Given the description of an element on the screen output the (x, y) to click on. 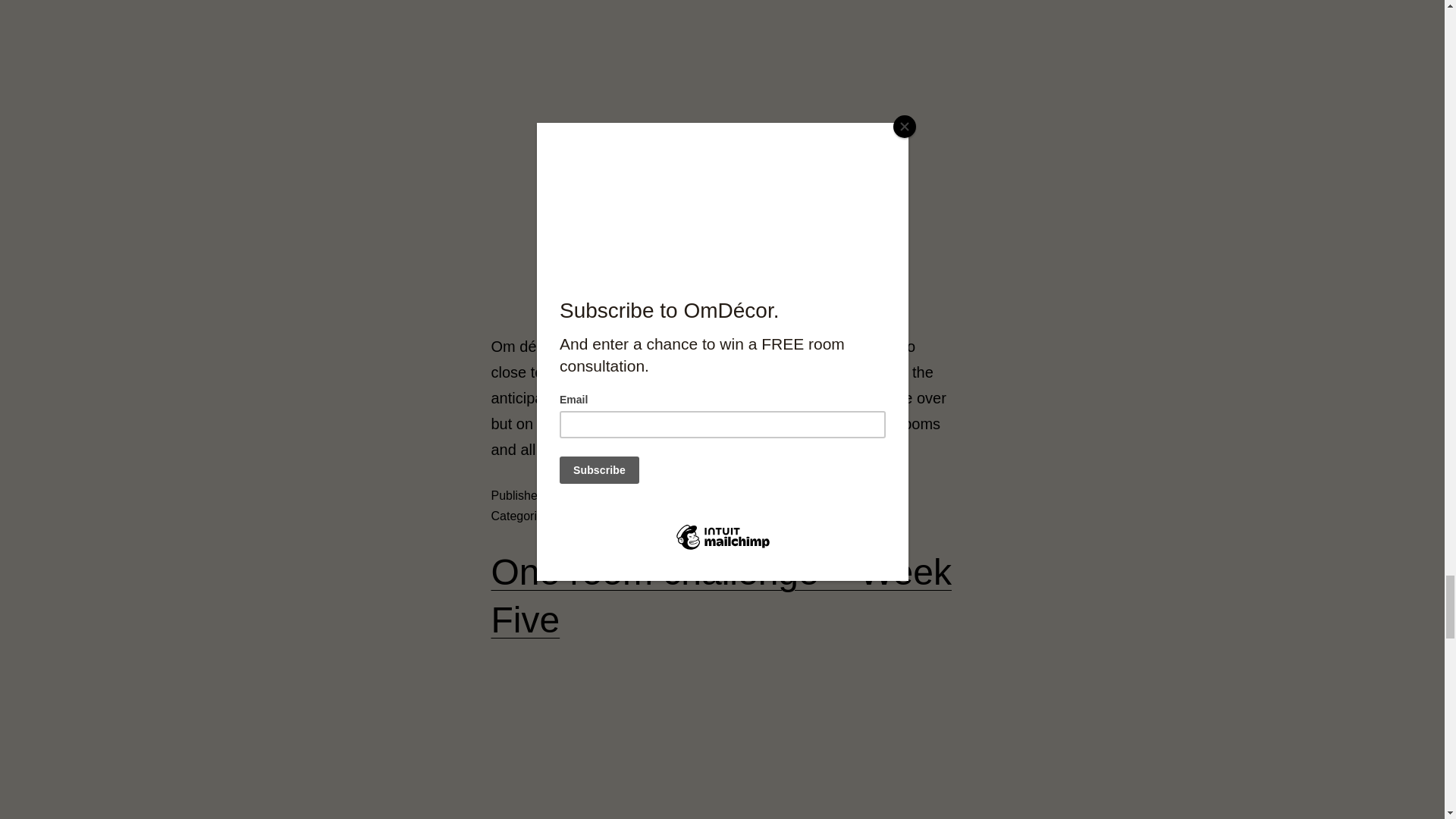
Uncategorized (614, 515)
Continue reading (672, 449)
